Given the description of an element on the screen output the (x, y) to click on. 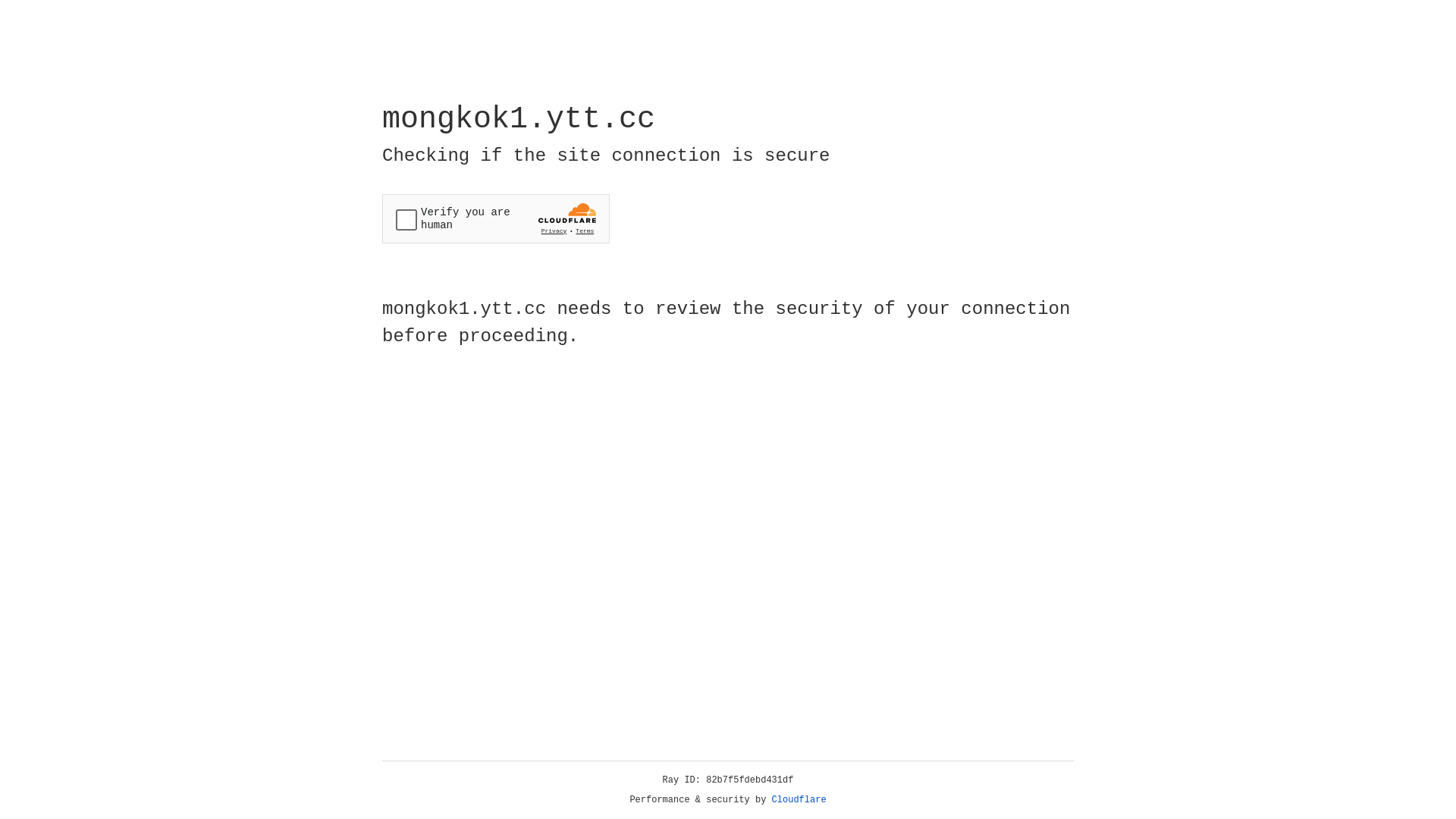
Widget containing a Cloudflare security challenge Element type: hover (495, 218)
Cloudflare Element type: text (798, 799)
